Given the description of an element on the screen output the (x, y) to click on. 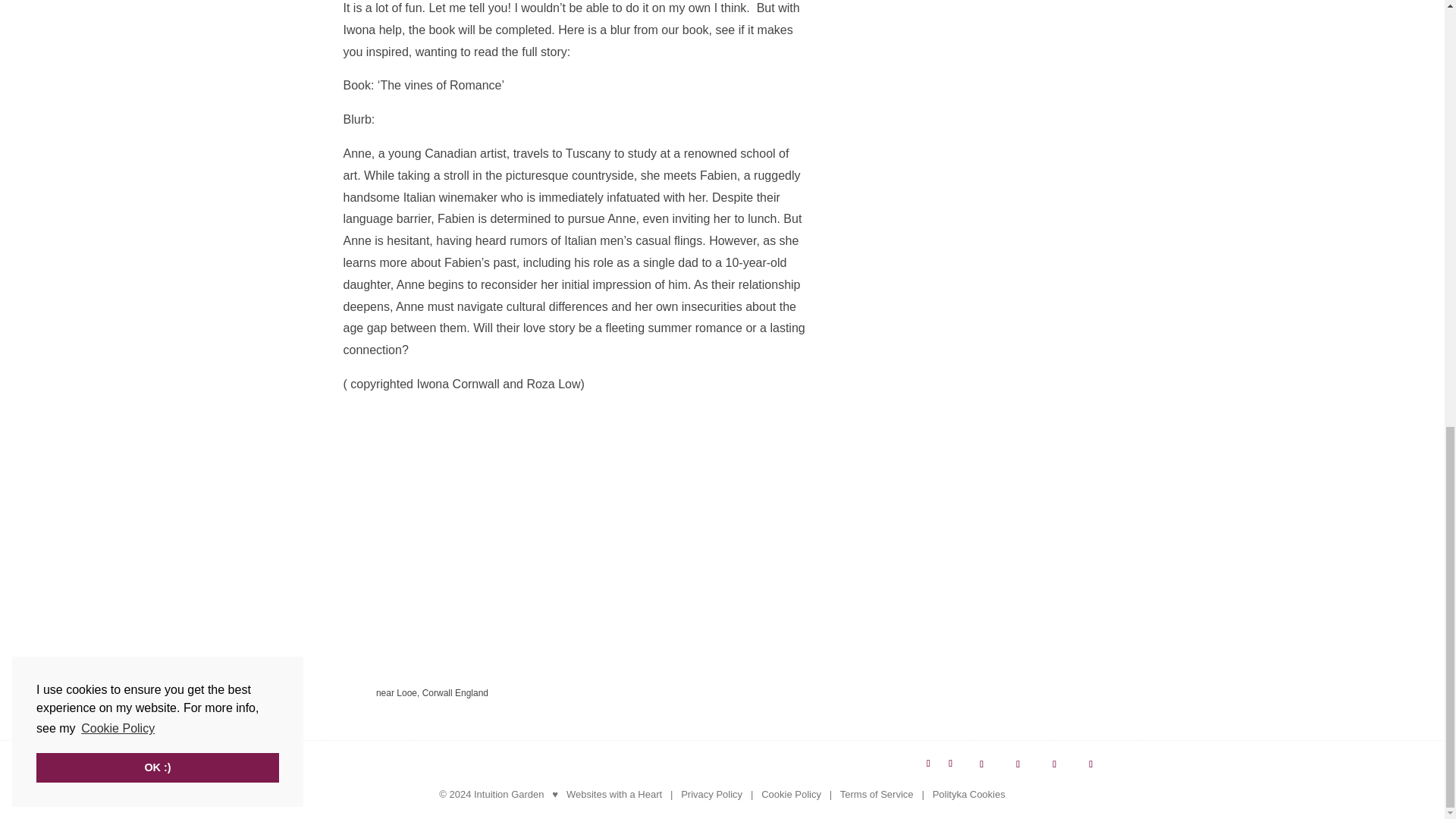
made with love (554, 794)
